Given the description of an element on the screen output the (x, y) to click on. 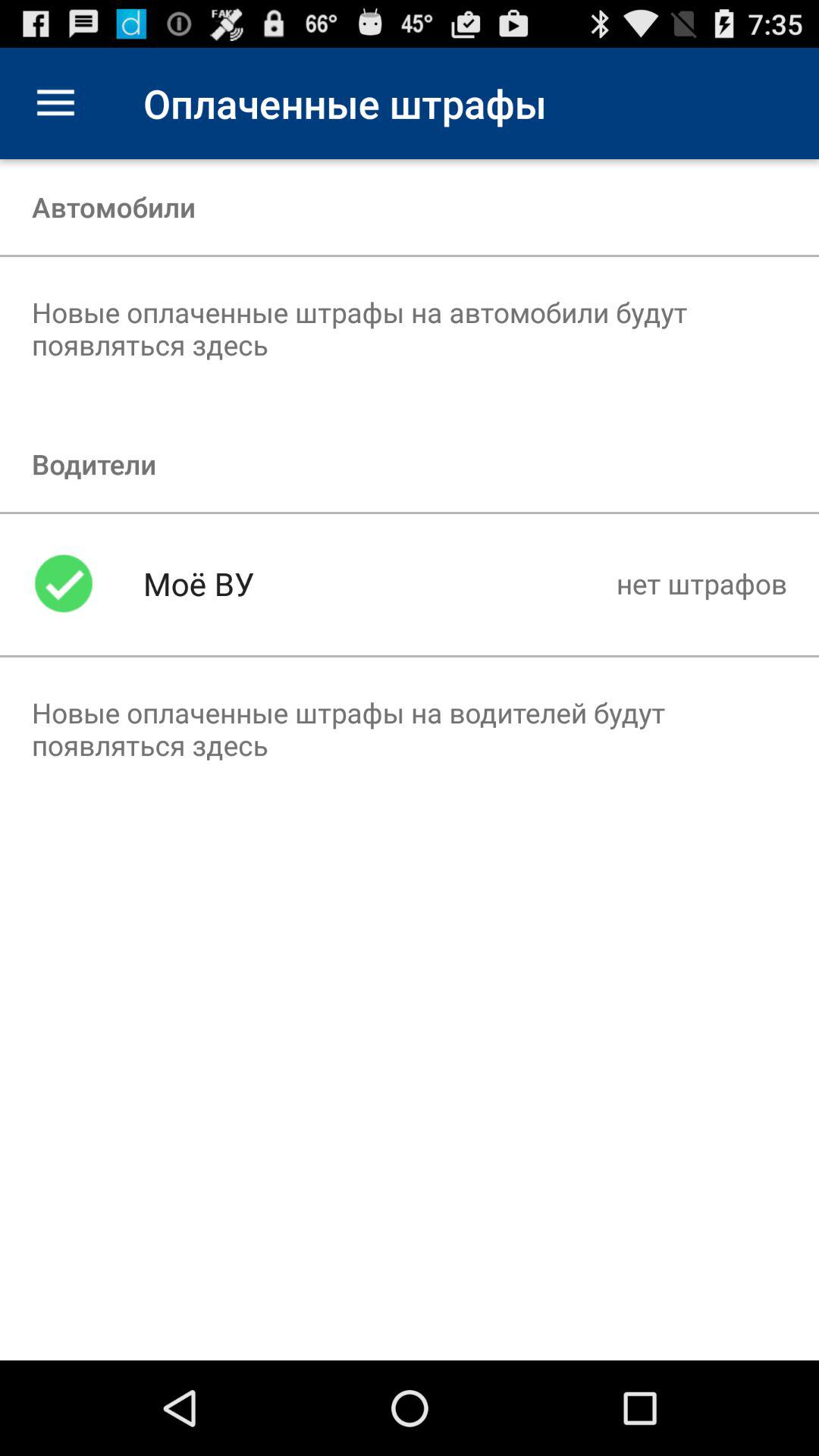
launch icon at the top left corner (55, 103)
